Given the description of an element on the screen output the (x, y) to click on. 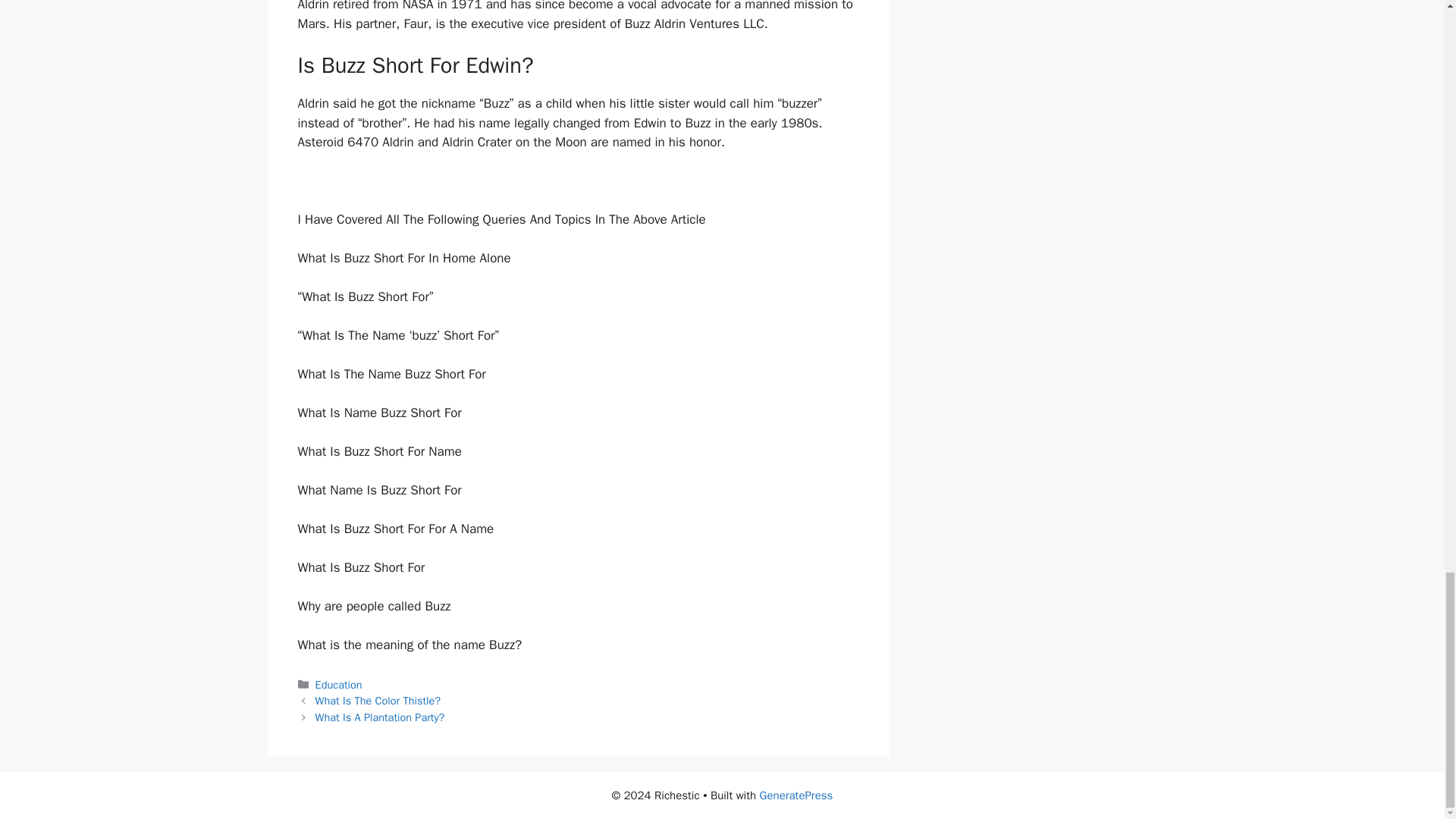
What Is A Plantation Party? (380, 716)
Education (338, 684)
What Is The Color Thistle? (378, 700)
